Given the description of an element on the screen output the (x, y) to click on. 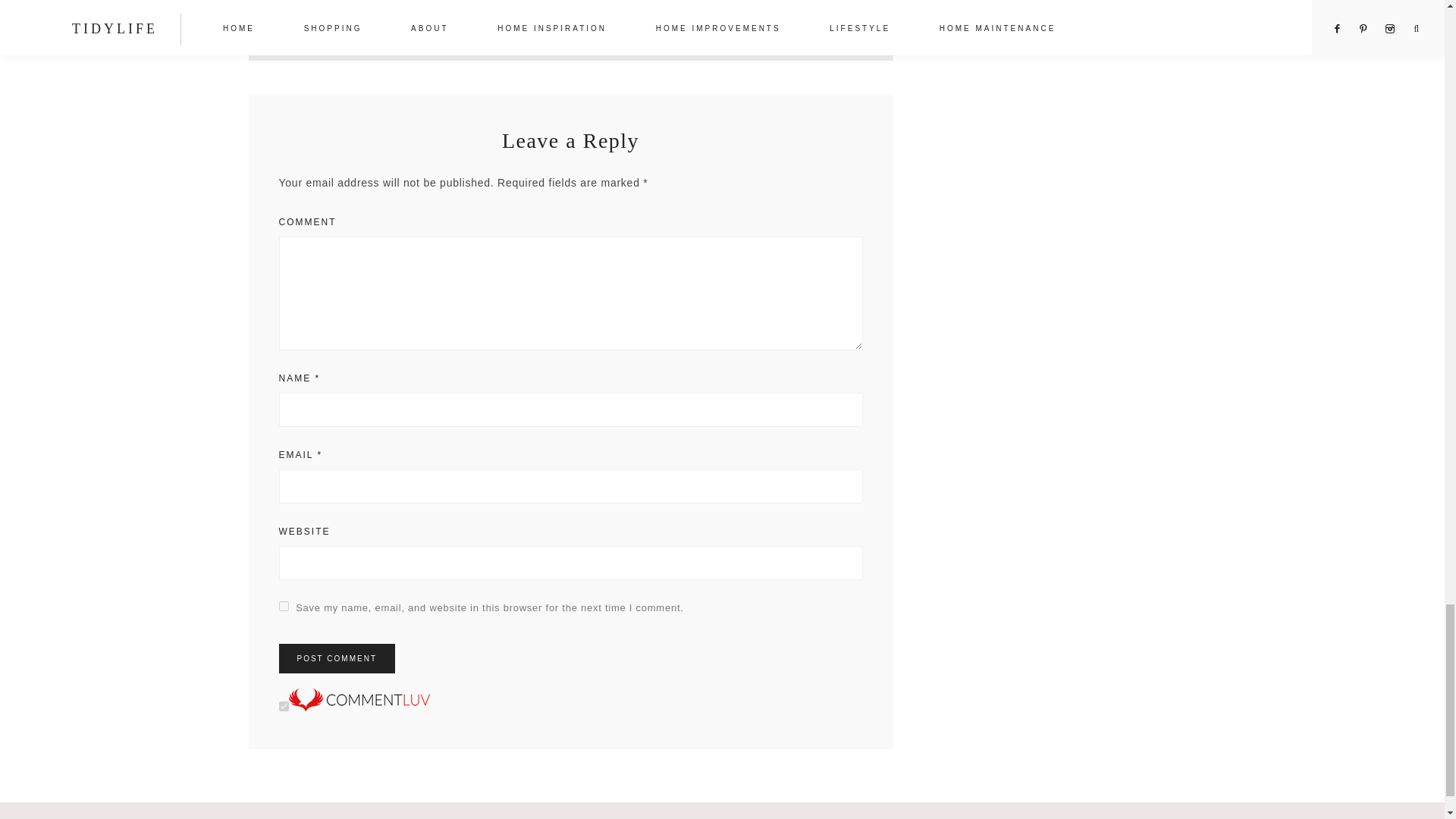
on (283, 706)
Post Comment (336, 658)
yes (283, 605)
CommentLuv is enabled (358, 707)
Permanent Link to Practical Ways to Cut Driving Costs (566, 10)
